Given the description of an element on the screen output the (x, y) to click on. 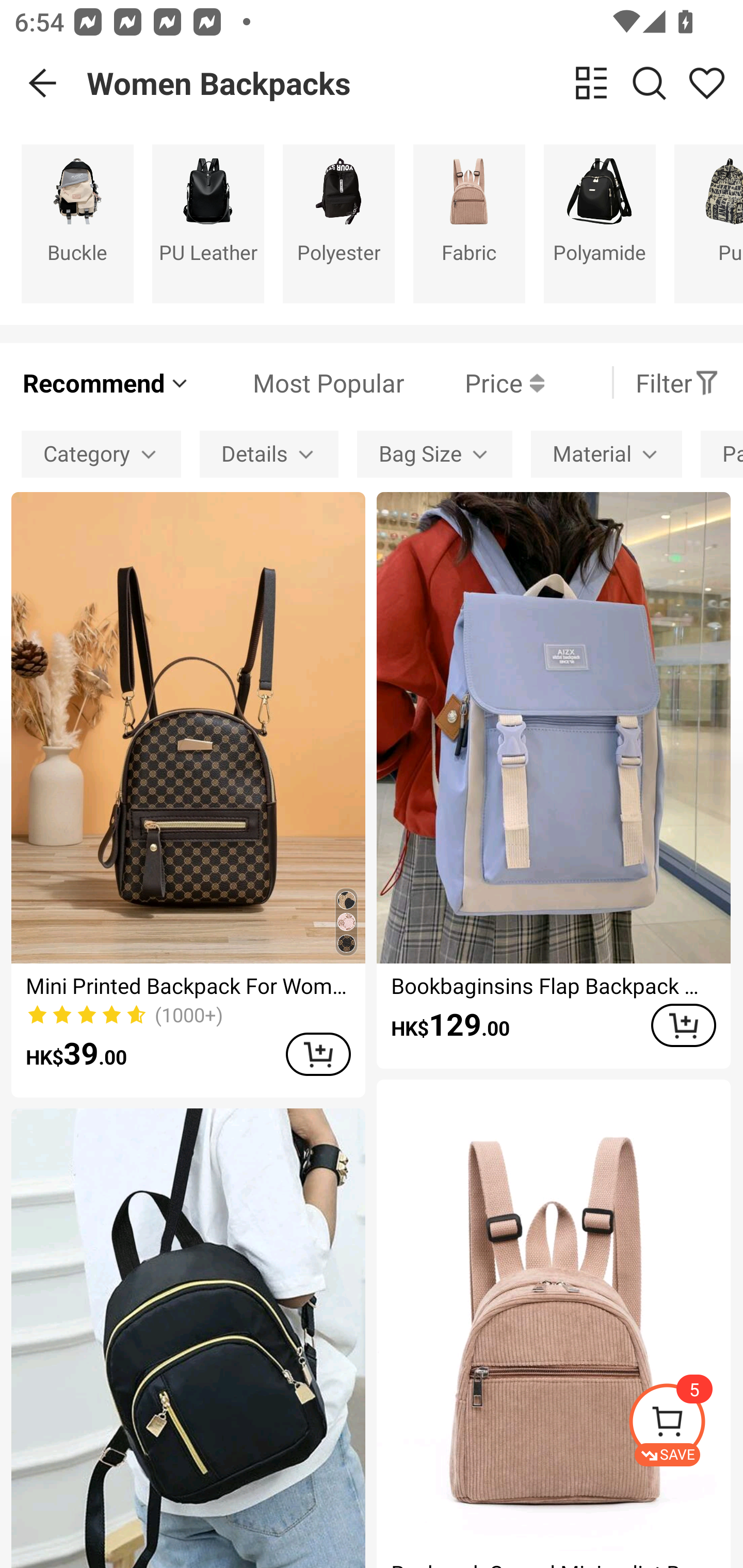
Women Backpacks change view Search Share (414, 82)
change view (591, 82)
Search (648, 82)
Share (706, 82)
Buckle (77, 223)
PU Leather (208, 223)
Polyester (338, 223)
Fabric (469, 223)
Polyamide (599, 223)
Pu (708, 223)
Recommend (106, 382)
Most Popular (297, 382)
Price (474, 382)
Filter (677, 382)
Category (101, 454)
Details (268, 454)
Bag Size (434, 454)
Material (606, 454)
ADD TO CART (683, 1025)
ADD TO CART (318, 1054)
SAVE (685, 1424)
